Given the description of an element on the screen output the (x, y) to click on. 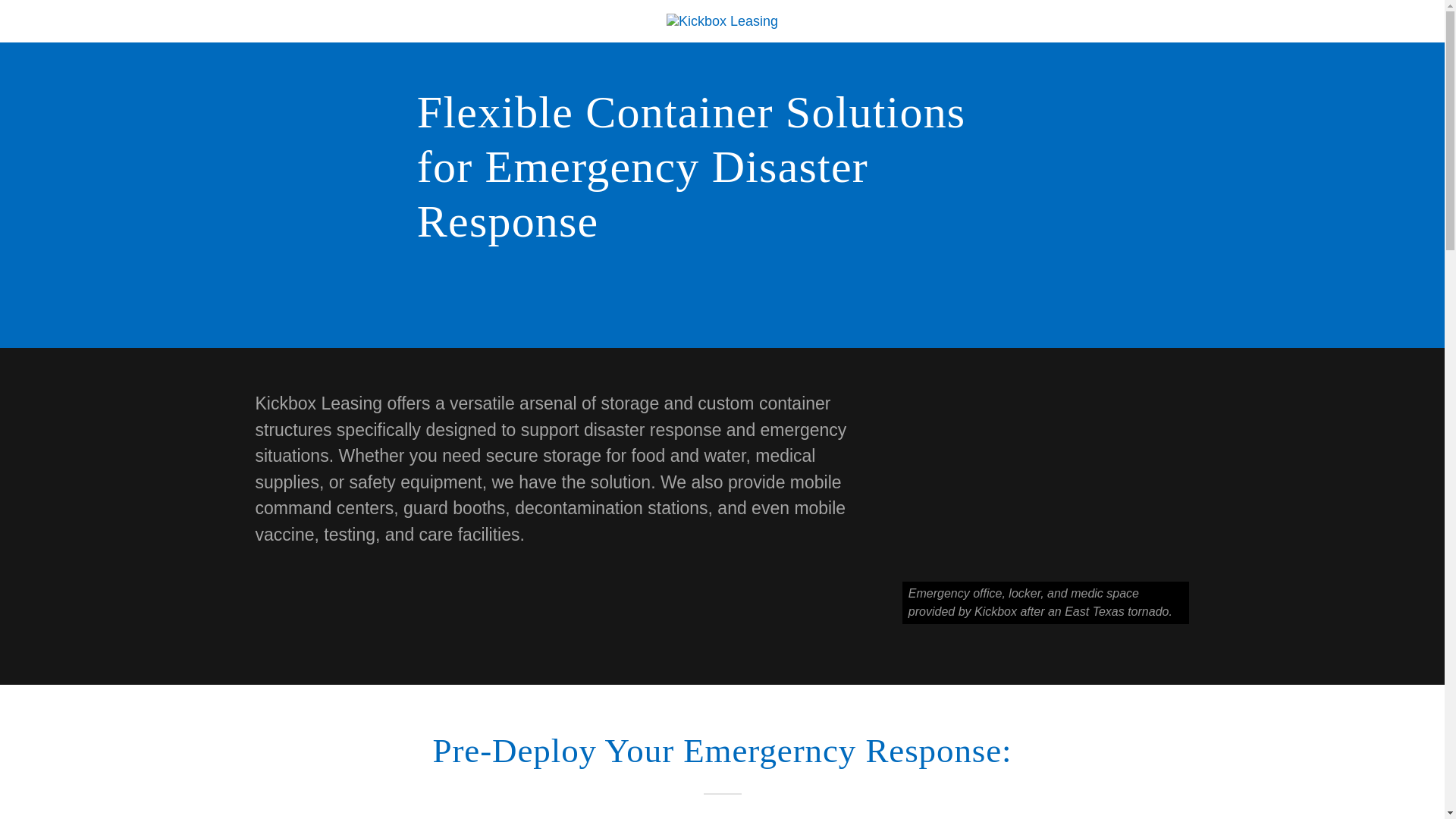
Kickbox Leasing (721, 20)
